Given the description of an element on the screen output the (x, y) to click on. 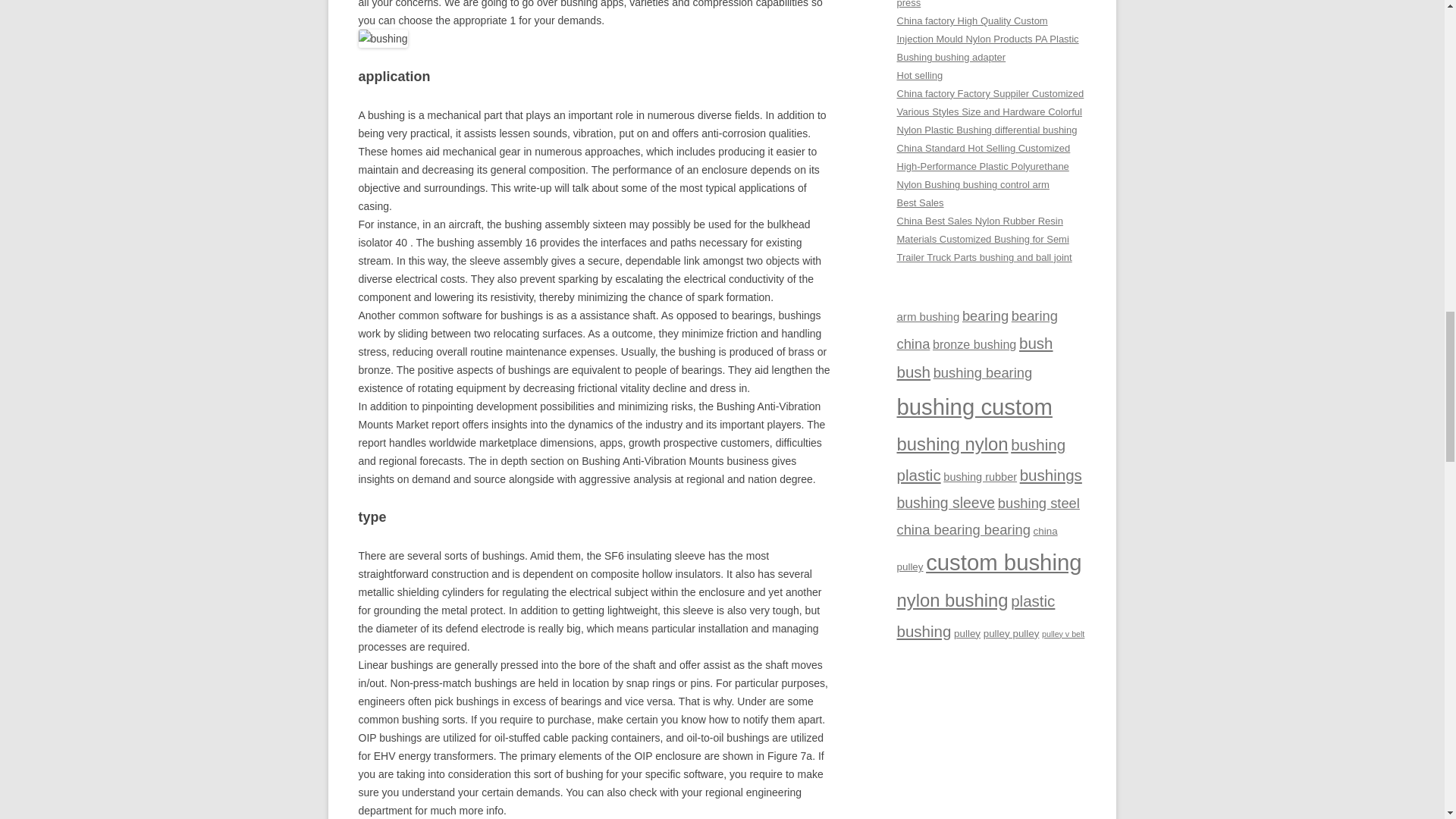
Hot selling (919, 75)
